Given the description of an element on the screen output the (x, y) to click on. 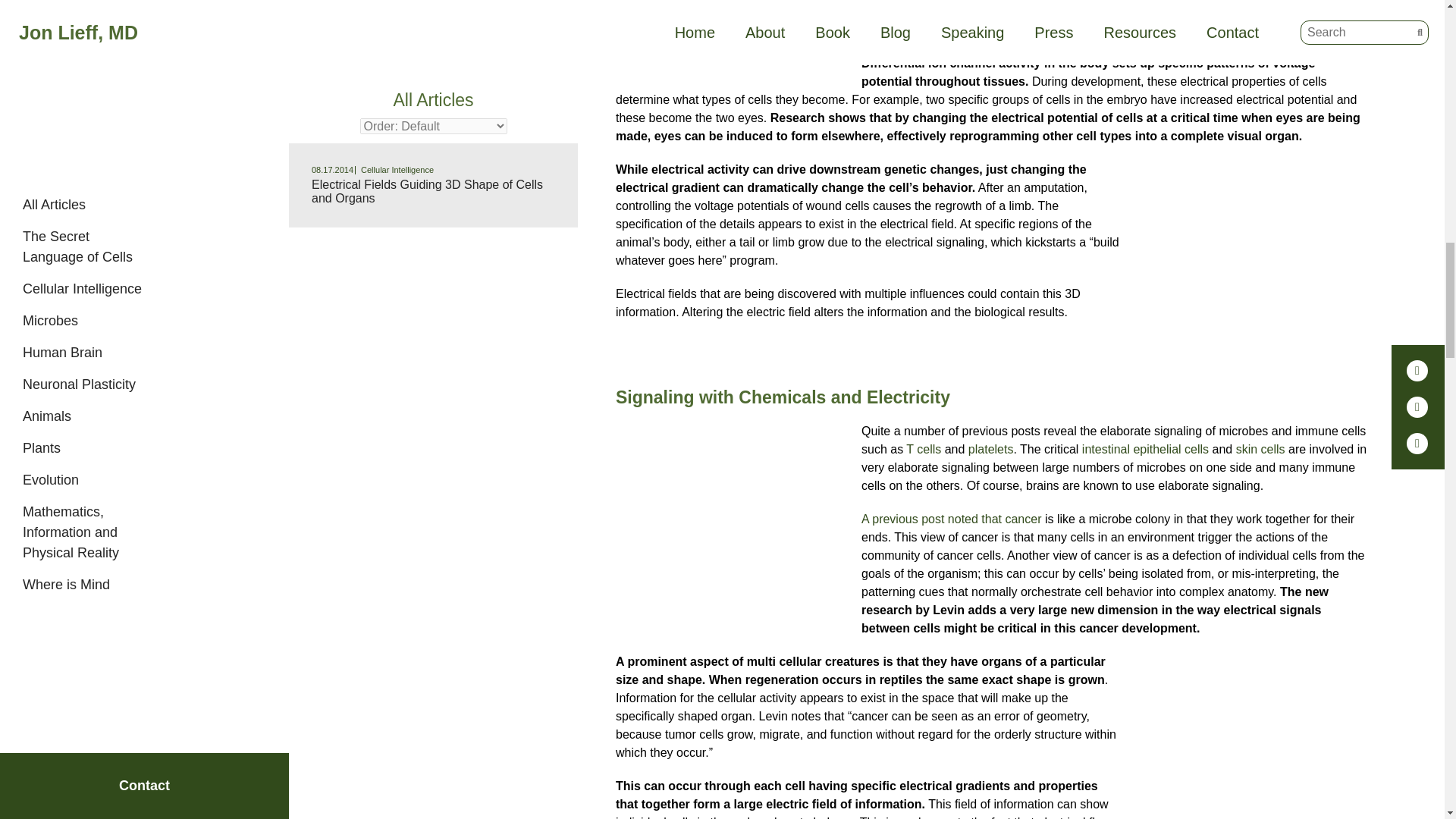
skin cells (1260, 449)
T cells (921, 449)
intestinal epithelial cells (1144, 449)
platelets (990, 449)
A previous post noted that cancer (951, 518)
